Given the description of an element on the screen output the (x, y) to click on. 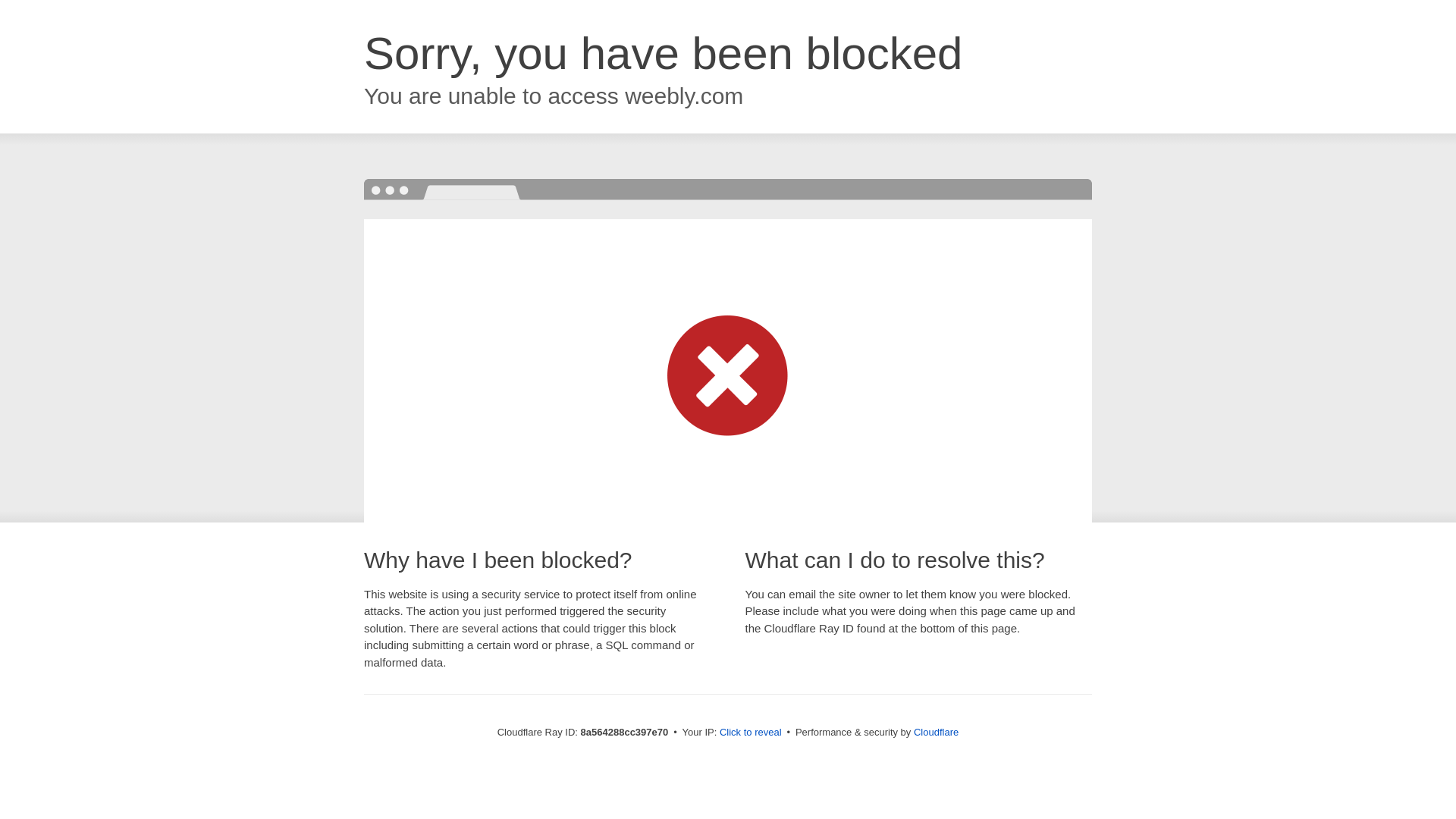
Click to reveal (750, 732)
Cloudflare (936, 731)
